Given the description of an element on the screen output the (x, y) to click on. 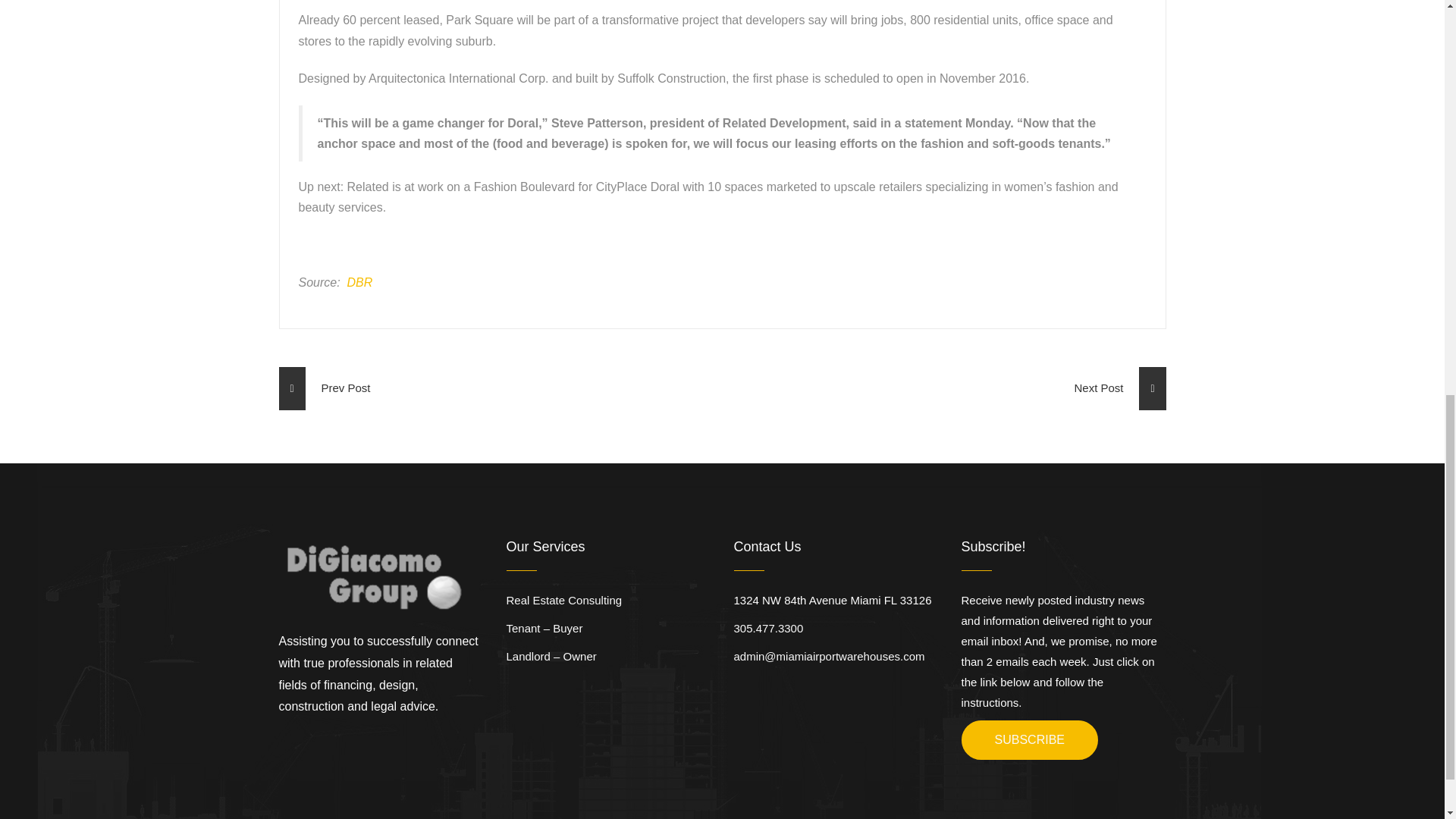
DBR (359, 282)
Next Post     (1120, 388)
    Prev Post (325, 388)
305.477.3300 (768, 627)
Real Estate Consulting (564, 599)
SUBSCRIBE (1028, 740)
